Given the description of an element on the screen output the (x, y) to click on. 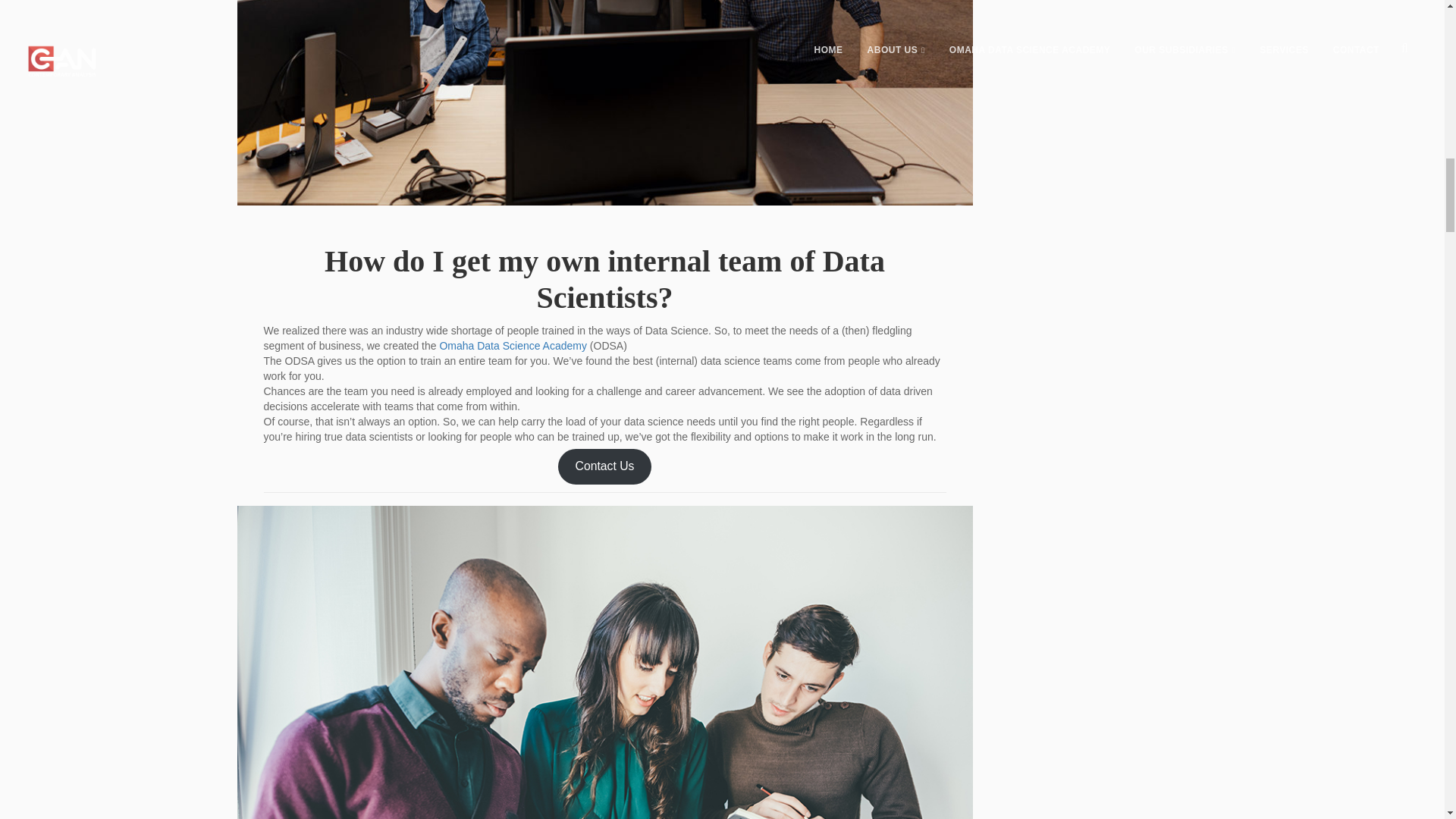
How do I get my own internal team of Data Scientists? (604, 279)
Nate Watson (384, 524)
May 27, 2020 (302, 524)
FAQs (450, 524)
Contact Us (604, 466)
Omaha Data Science Academy (512, 345)
